Given the description of an element on the screen output the (x, y) to click on. 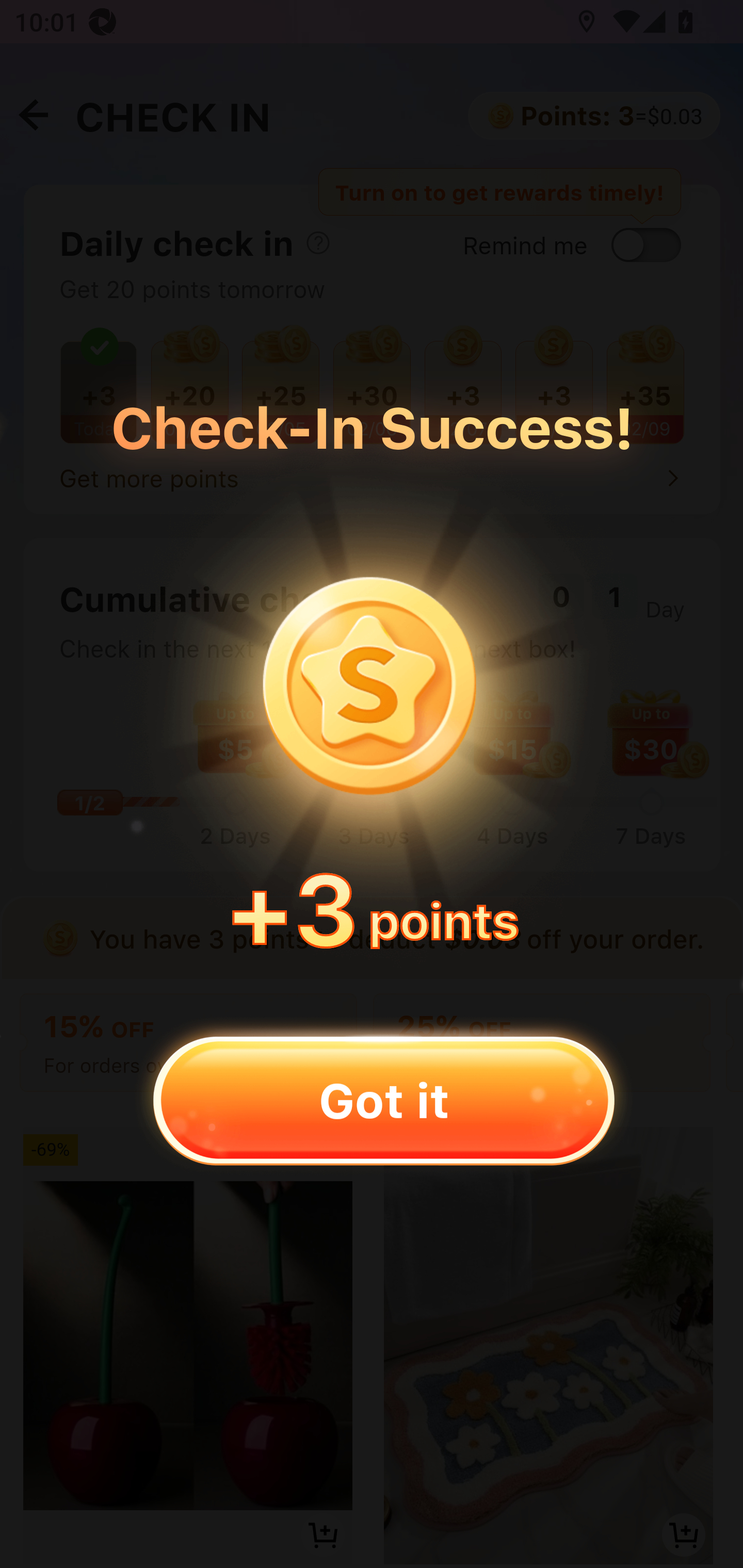
Got it (383, 1099)
